Given the description of an element on the screen output the (x, y) to click on. 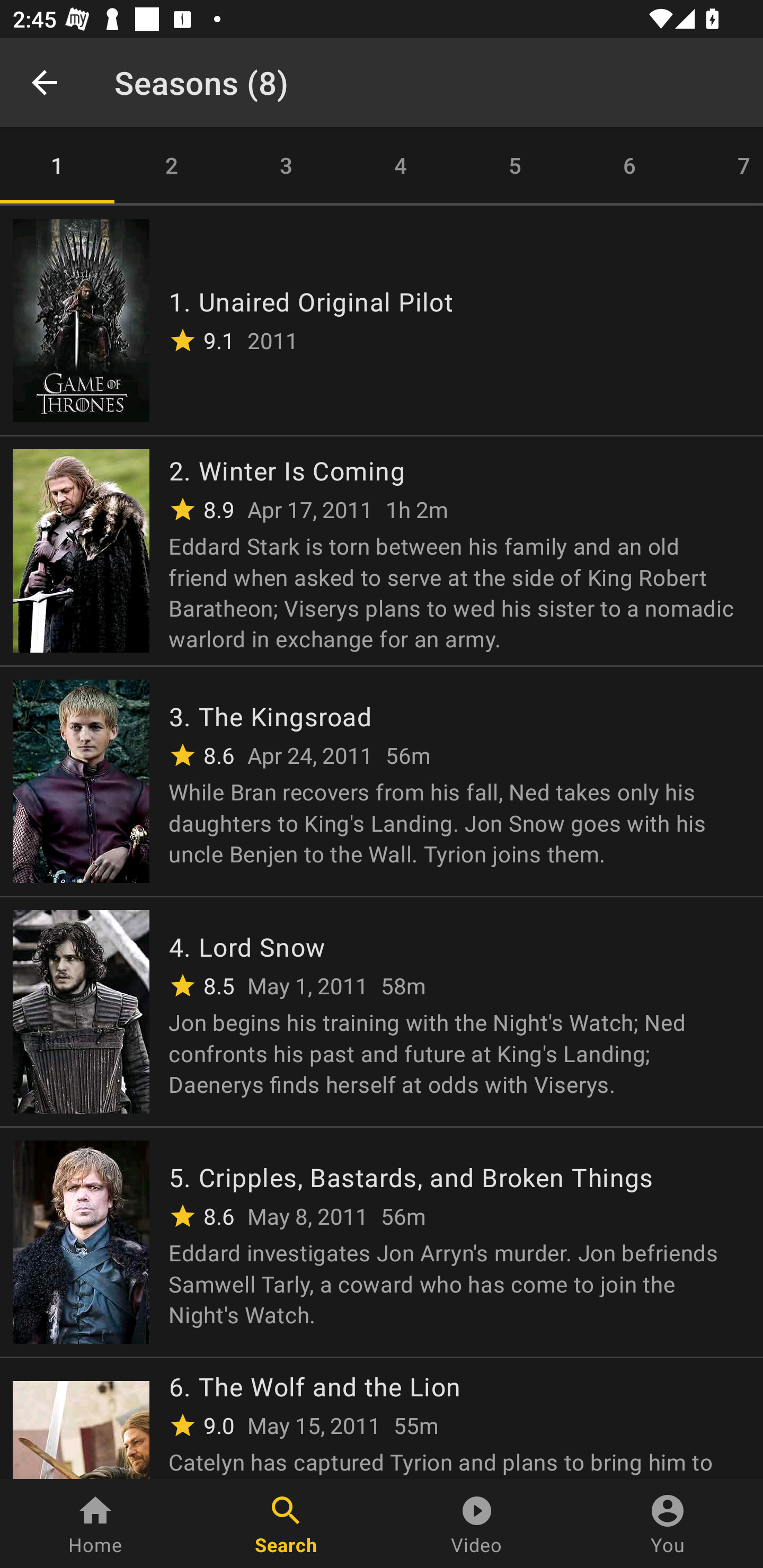
2 (171, 165)
3 (285, 165)
4 (400, 165)
5 (514, 165)
6 (629, 165)
7 (724, 165)
1. Unaired Original Pilot 9.1 2011 (381, 318)
Home (95, 1523)
Video (476, 1523)
You (667, 1523)
